Given the description of an element on the screen output the (x, y) to click on. 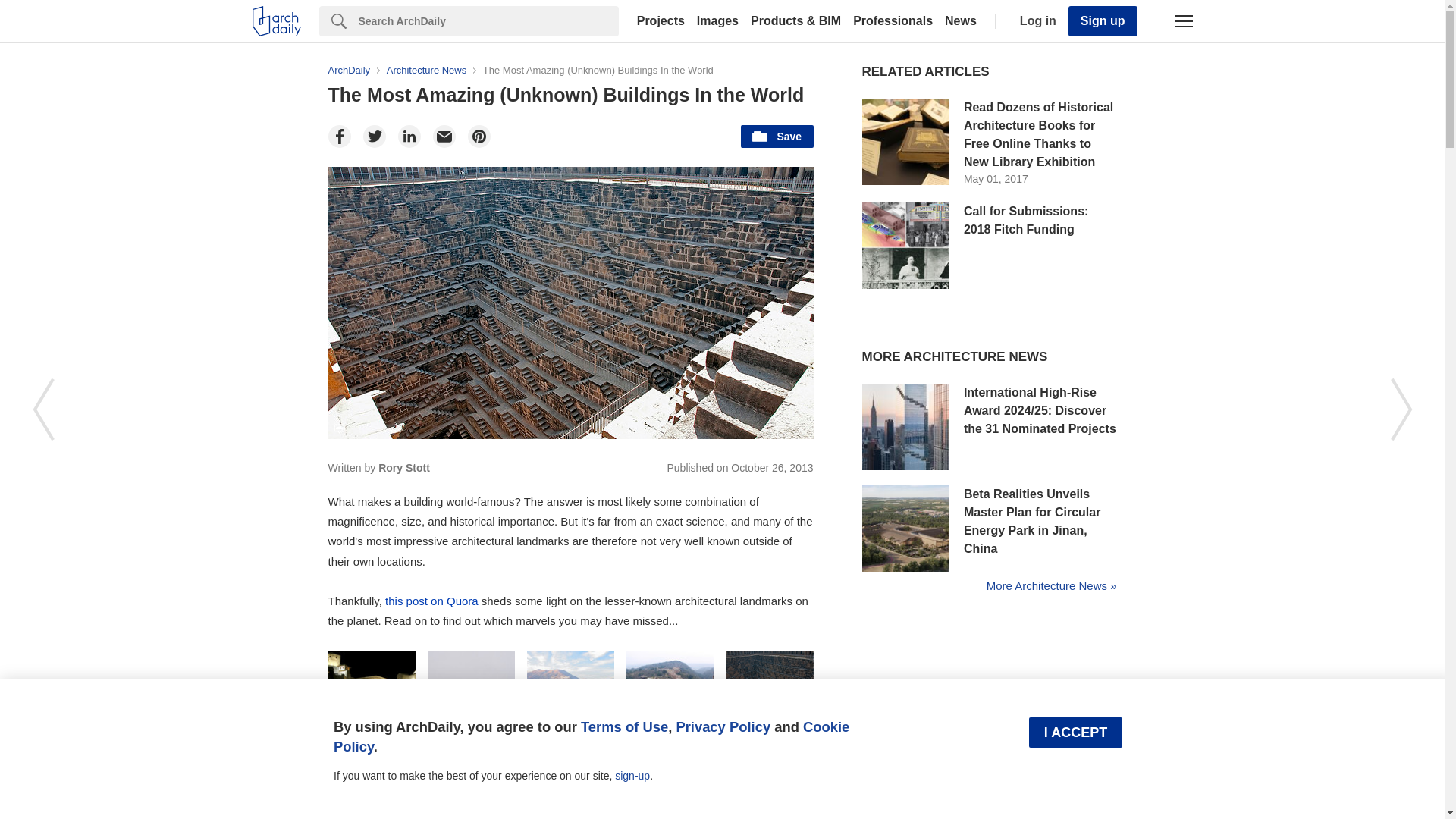
Sign up (1102, 20)
News (960, 21)
Professionals (893, 21)
Log in (1035, 20)
Projects (660, 21)
Images (717, 21)
